Given the description of an element on the screen output the (x, y) to click on. 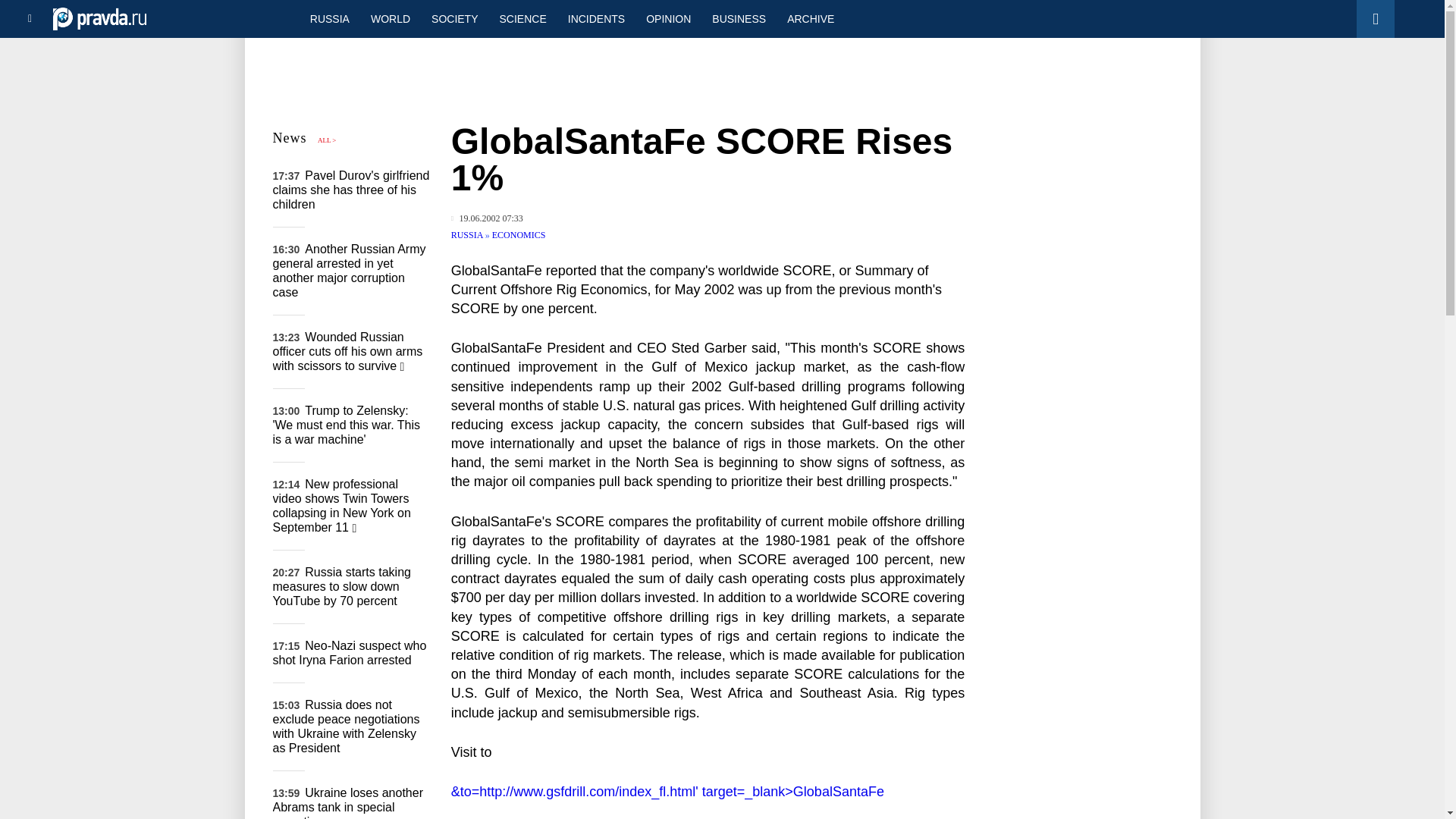
Published (486, 218)
ECONOMICS (519, 235)
SOCIETY (453, 18)
INCIDENTS (595, 18)
RUSSIA (467, 235)
ARCHIVE (810, 18)
BUSINESS (738, 18)
RUSSIA (329, 18)
News (290, 137)
Ukraine loses another Abrams tank in special operation zone (348, 802)
Neo-Nazi suspect who shot Iryna Farion arrested (349, 652)
WORLD (389, 18)
